Given the description of an element on the screen output the (x, y) to click on. 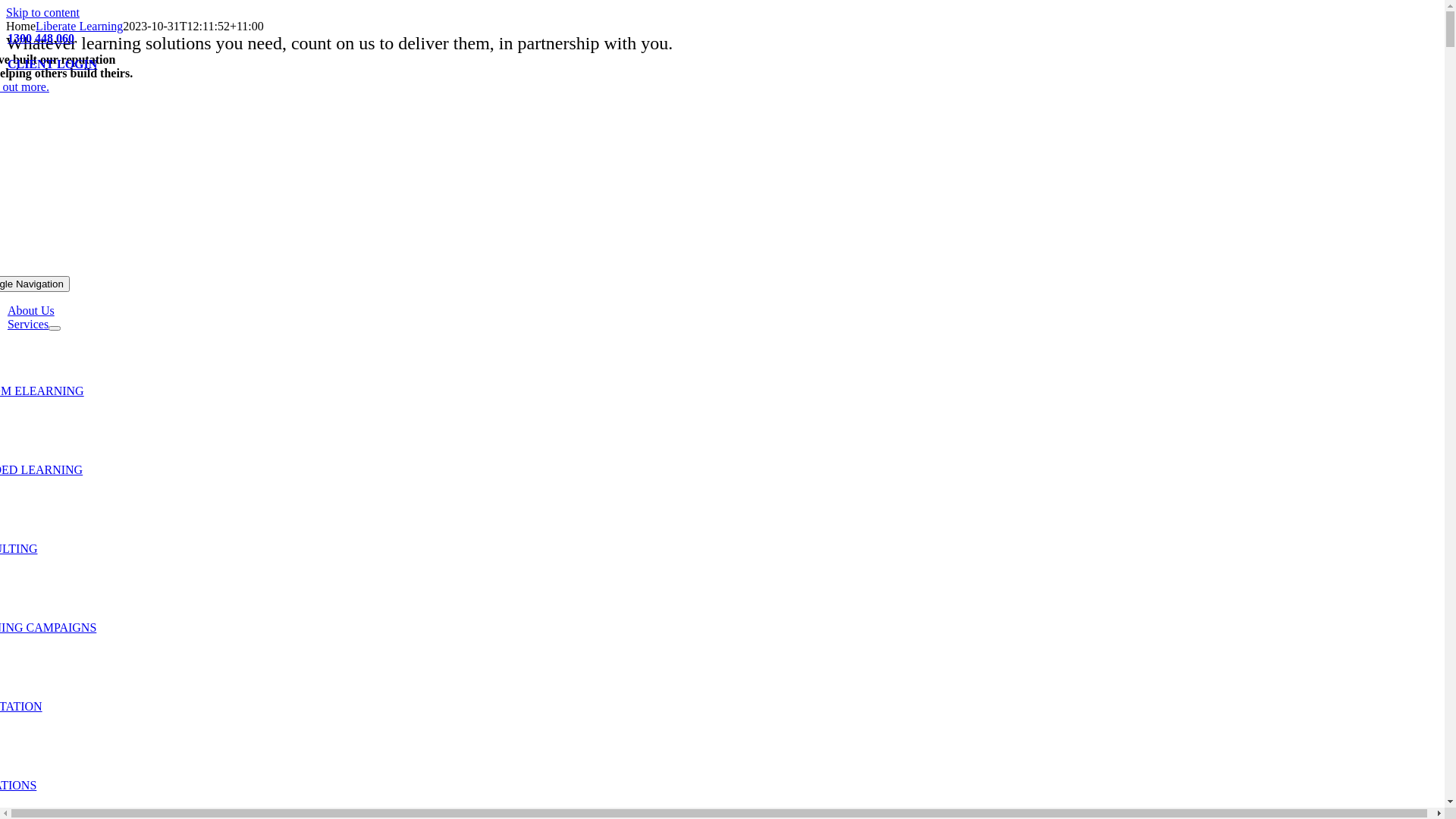
About Us Element type: text (30, 310)
1300 448 060 Element type: text (40, 37)
CLIENT LOGIN Element type: text (52, 63)
Services Element type: text (27, 323)
Skip to content Element type: text (42, 12)
Liberate Learning Element type: text (78, 25)
